Given the description of an element on the screen output the (x, y) to click on. 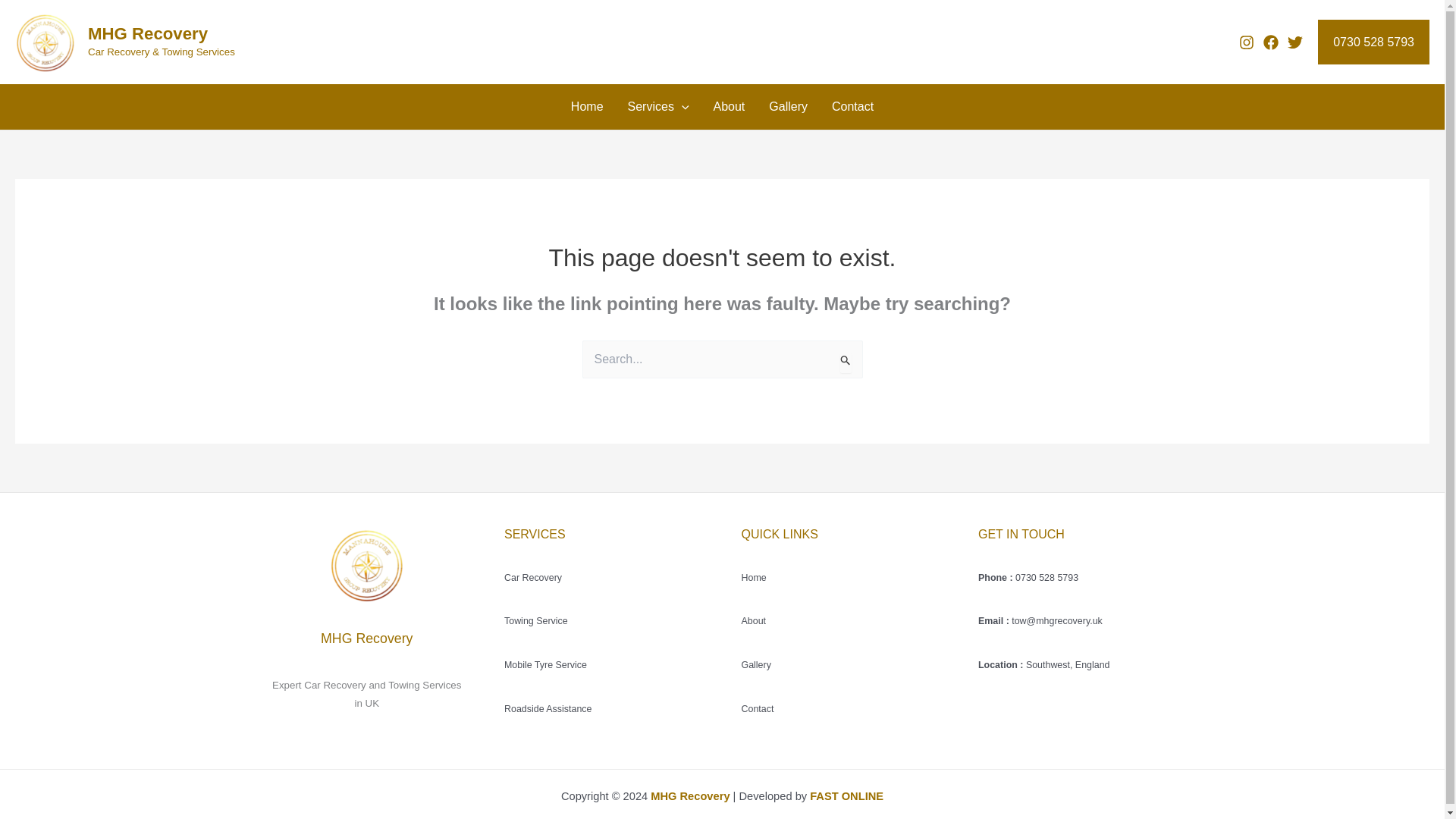
Gallery (788, 107)
Roadside Assistance (547, 708)
Mobile Tyre Service (544, 665)
Towing Service (535, 620)
Contact (757, 708)
Services (658, 107)
Gallery (756, 665)
About (754, 620)
Home (587, 107)
About (728, 107)
Contact (852, 107)
MHG Recovery (147, 33)
Car Recovery (532, 576)
0730 528 5793 (1373, 42)
